Given the description of an element on the screen output the (x, y) to click on. 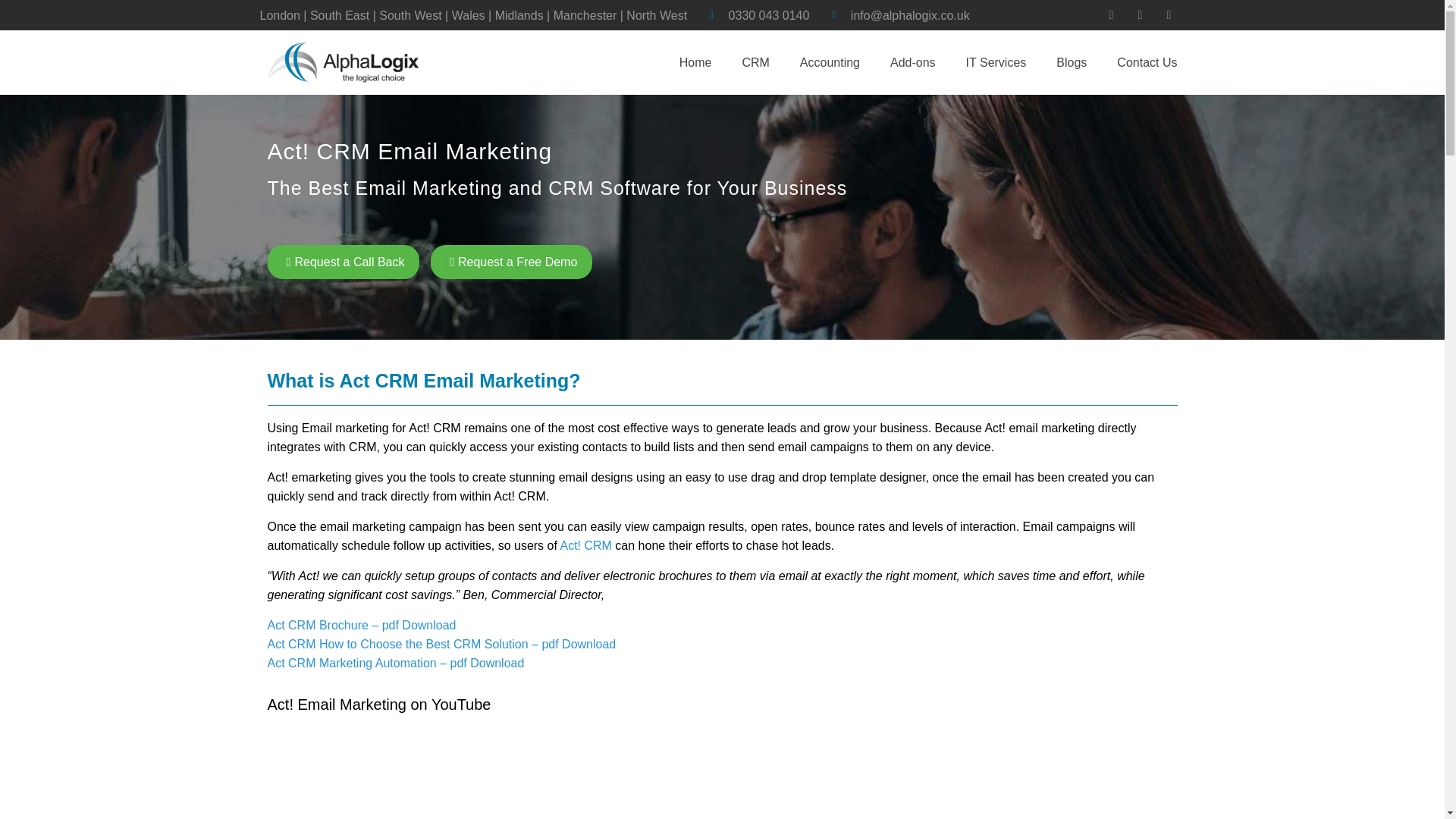
 Act CRM Brochure - pdf Download (360, 625)
Act CRM Marketing Automation - pdf Download (395, 662)
0330 043 0140 (759, 15)
 Act CRM How to Choose the Best CRM Solution - pdf Download (440, 644)
